Given the description of an element on the screen output the (x, y) to click on. 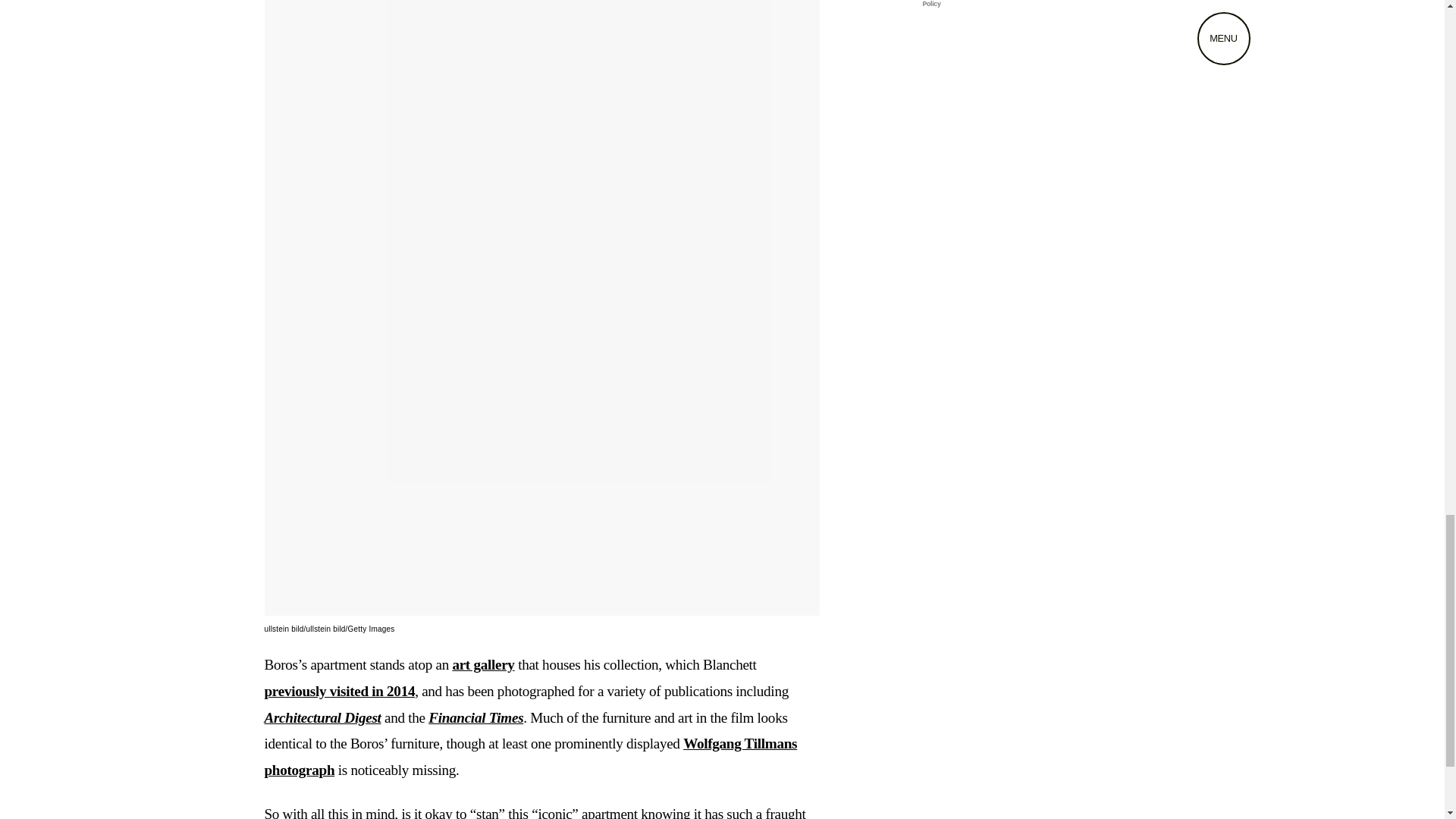
Privacy Policy (1039, 3)
previously visited in 2014 (338, 691)
Financial Times (475, 717)
Architectural Digest (321, 717)
art gallery (482, 664)
Wolfgang Tillmans photograph (529, 756)
